Given the description of an element on the screen output the (x, y) to click on. 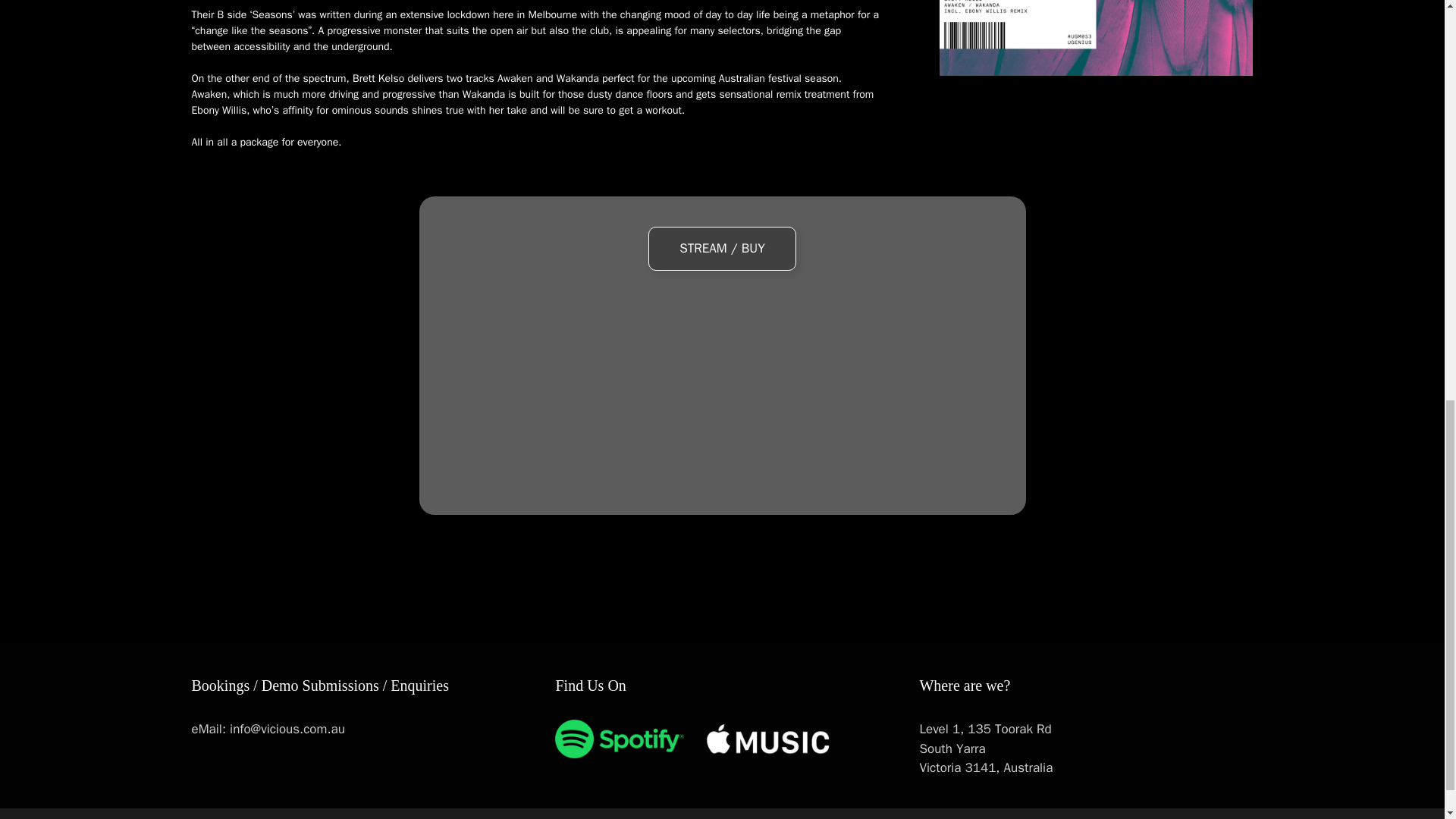
Scroll back to top (1406, 720)
